Given the description of an element on the screen output the (x, y) to click on. 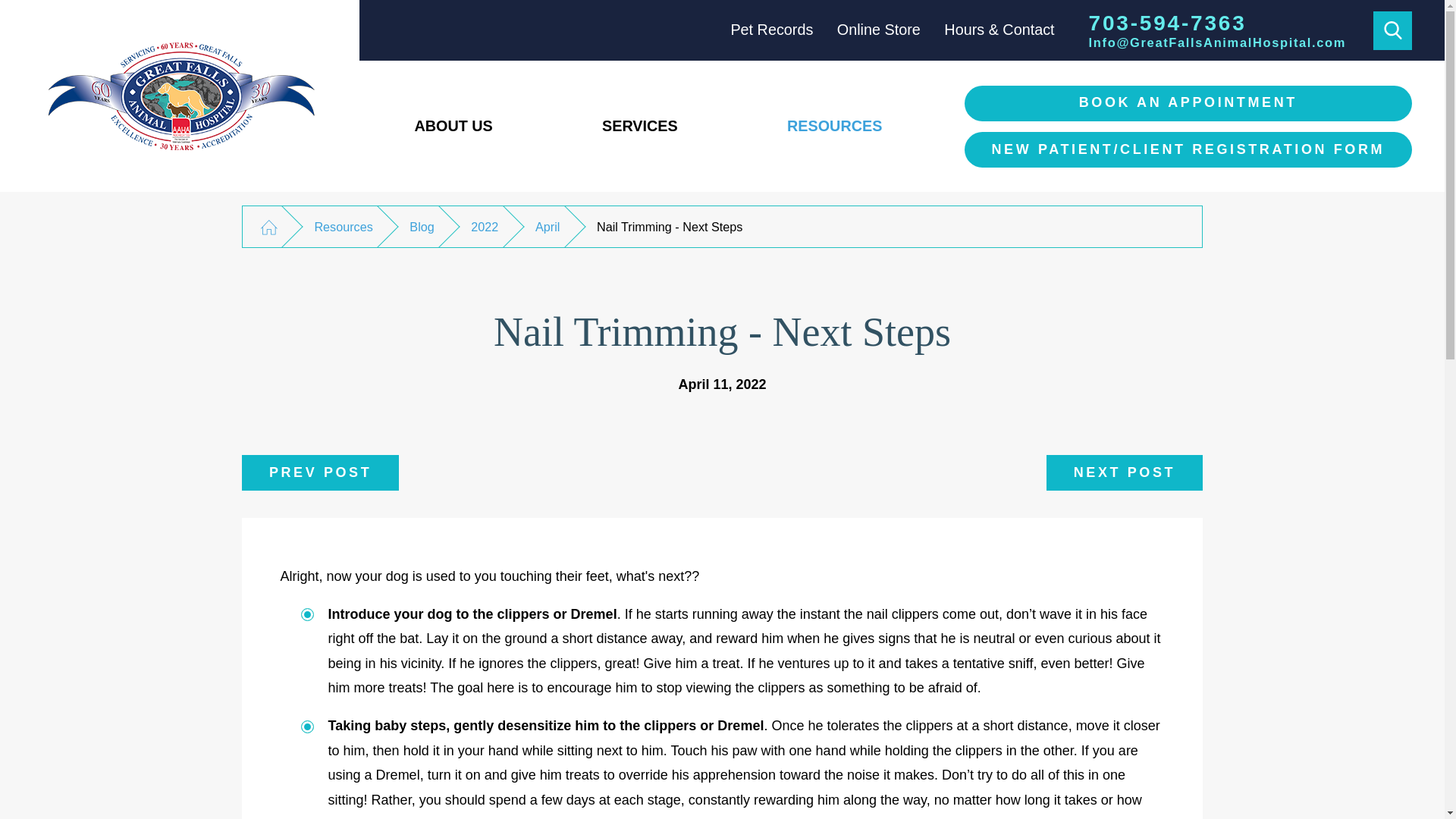
Online Store (878, 29)
Search Our Site (1392, 30)
Pet Records (771, 29)
RESOURCES (834, 125)
Go Home (269, 226)
BOOK AN APPOINTMENT (1187, 103)
703-594-7363 (1217, 23)
Great Falls Animal Hospital (179, 96)
SERVICES (639, 125)
ABOUT US (453, 125)
Search Icon (1393, 30)
